Given the description of an element on the screen output the (x, y) to click on. 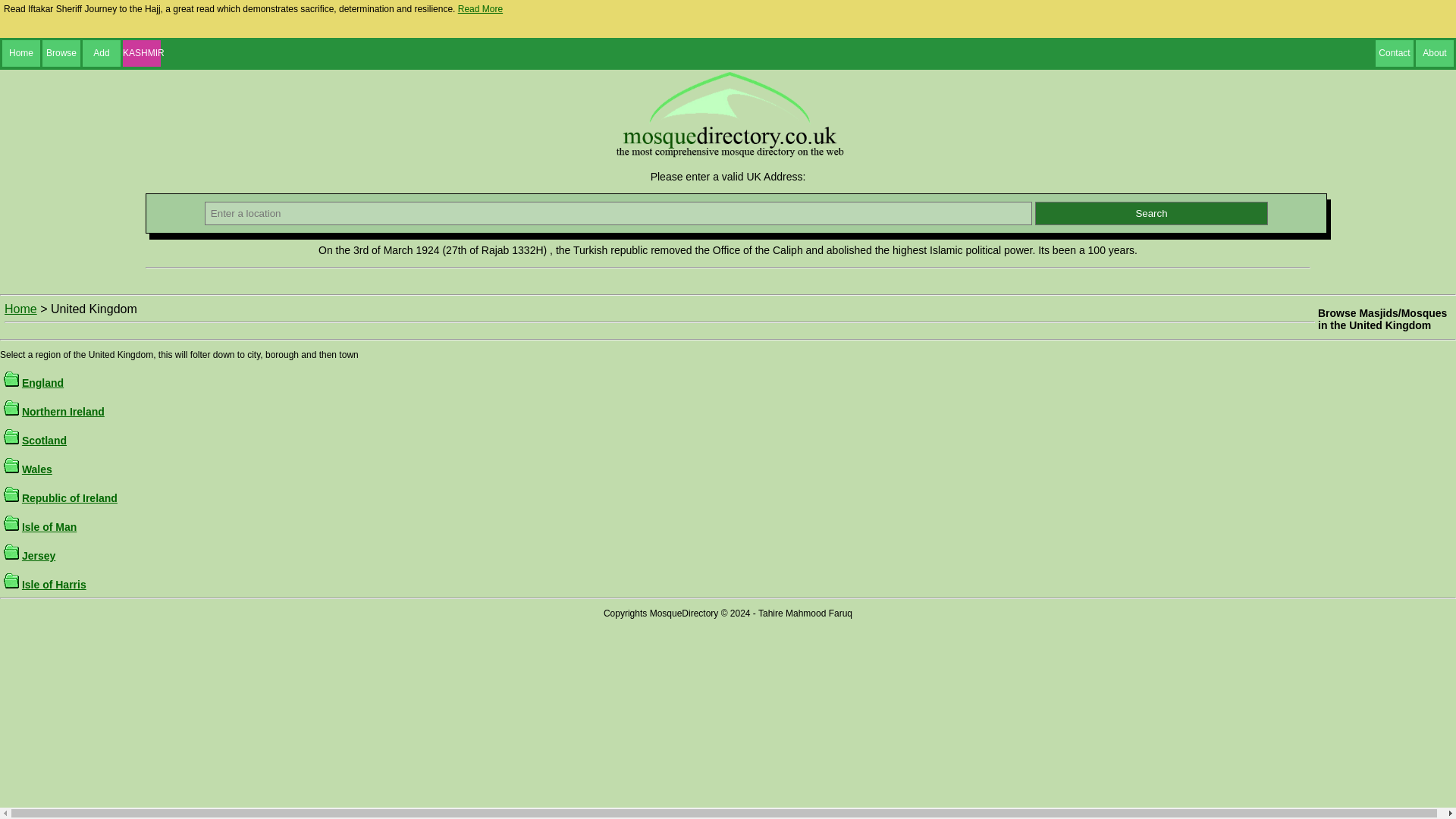
Search (1151, 213)
Home (20, 308)
England (42, 382)
Search (1151, 213)
Isle of Harris (53, 584)
Search (1151, 213)
Republic of Ireland (69, 498)
Jersey (38, 555)
Northern Ireland (62, 411)
Read More (480, 9)
Scotland (43, 440)
Wales (36, 469)
Isle of Man (49, 526)
